Given the description of an element on the screen output the (x, y) to click on. 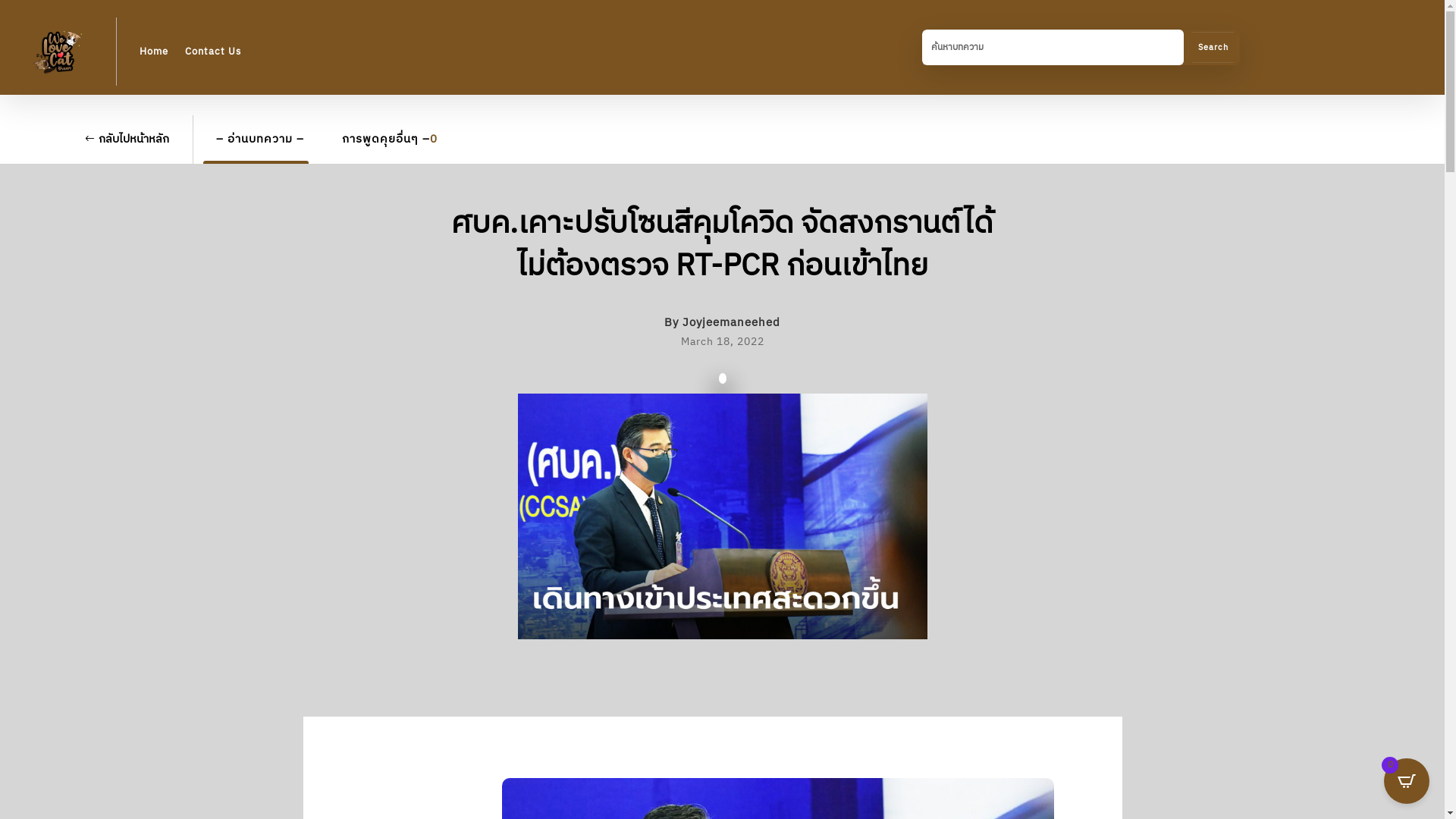
Home Element type: text (153, 51)
Joyjeemaneehed Element type: text (731, 324)
Contact Us Element type: text (213, 51)
0 Element type: text (1406, 780)
Search Element type: text (1217, 50)
